Given the description of an element on the screen output the (x, y) to click on. 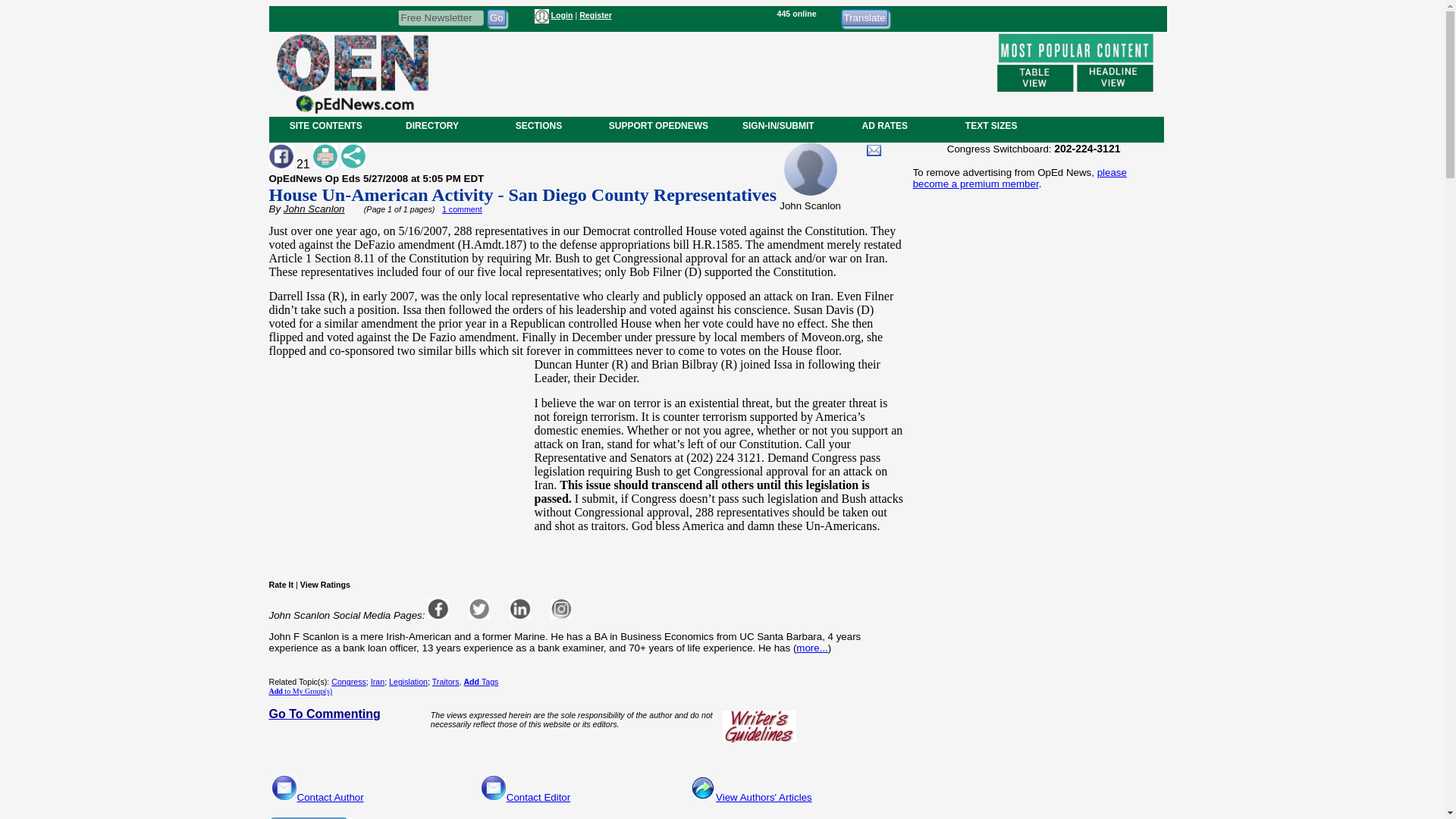
Legislation (408, 681)
Traitors (446, 681)
more... (811, 647)
SECTIONS (537, 125)
Linkedin page url on login Profile not filled in (520, 608)
Support OpEdNews (308, 818)
Go (496, 17)
More Sharing (352, 156)
Writers Guidelines (759, 726)
Free Newsletter (440, 17)
Advertisement (1032, 702)
Instagram page url on login Profile not filled in (561, 608)
1 comment (461, 208)
Facebook page url on login Profile not filled in (438, 608)
